Given the description of an element on the screen output the (x, y) to click on. 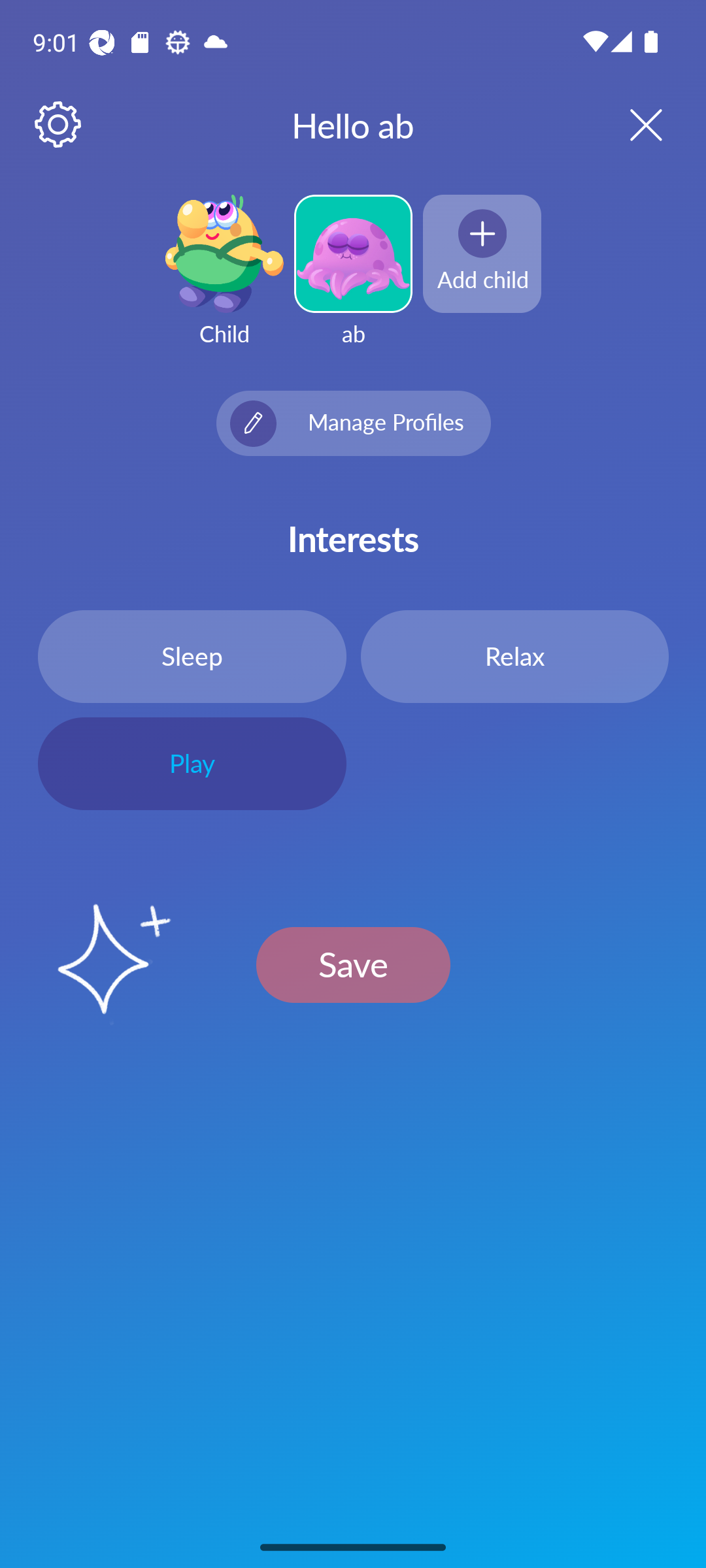
Close (629, 124)
Settings (58, 125)
Child (224, 282)
ab (353, 282)
Add child (481, 253)
icon Manage Profiles (353, 423)
Sleep (192, 655)
Relax (514, 655)
Play (192, 764)
Save (353, 964)
